Given the description of an element on the screen output the (x, y) to click on. 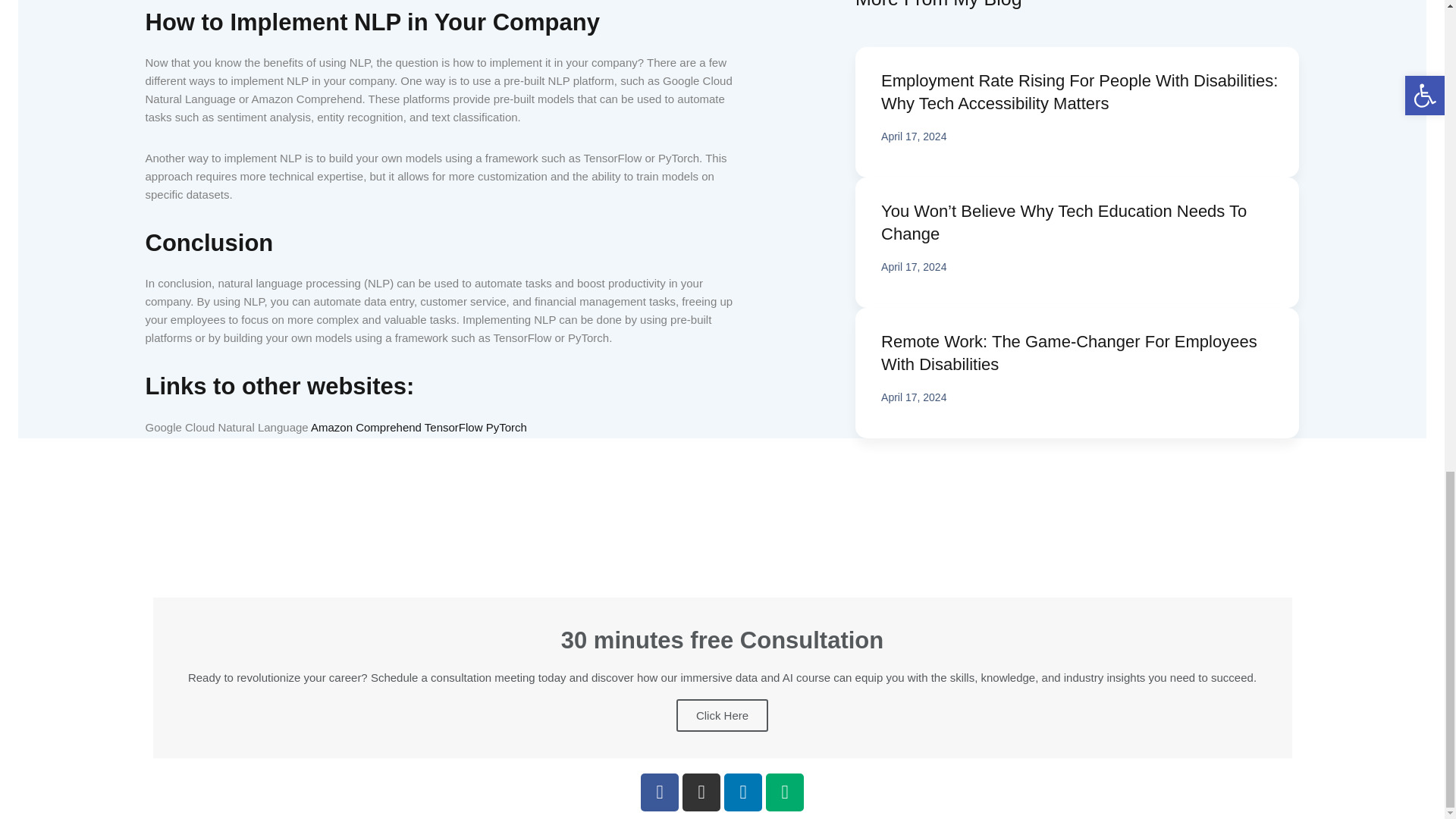
Amazon Comprehend (366, 427)
TensorFlow (454, 427)
PyTorch (506, 427)
Click Here (722, 715)
